Given the description of an element on the screen output the (x, y) to click on. 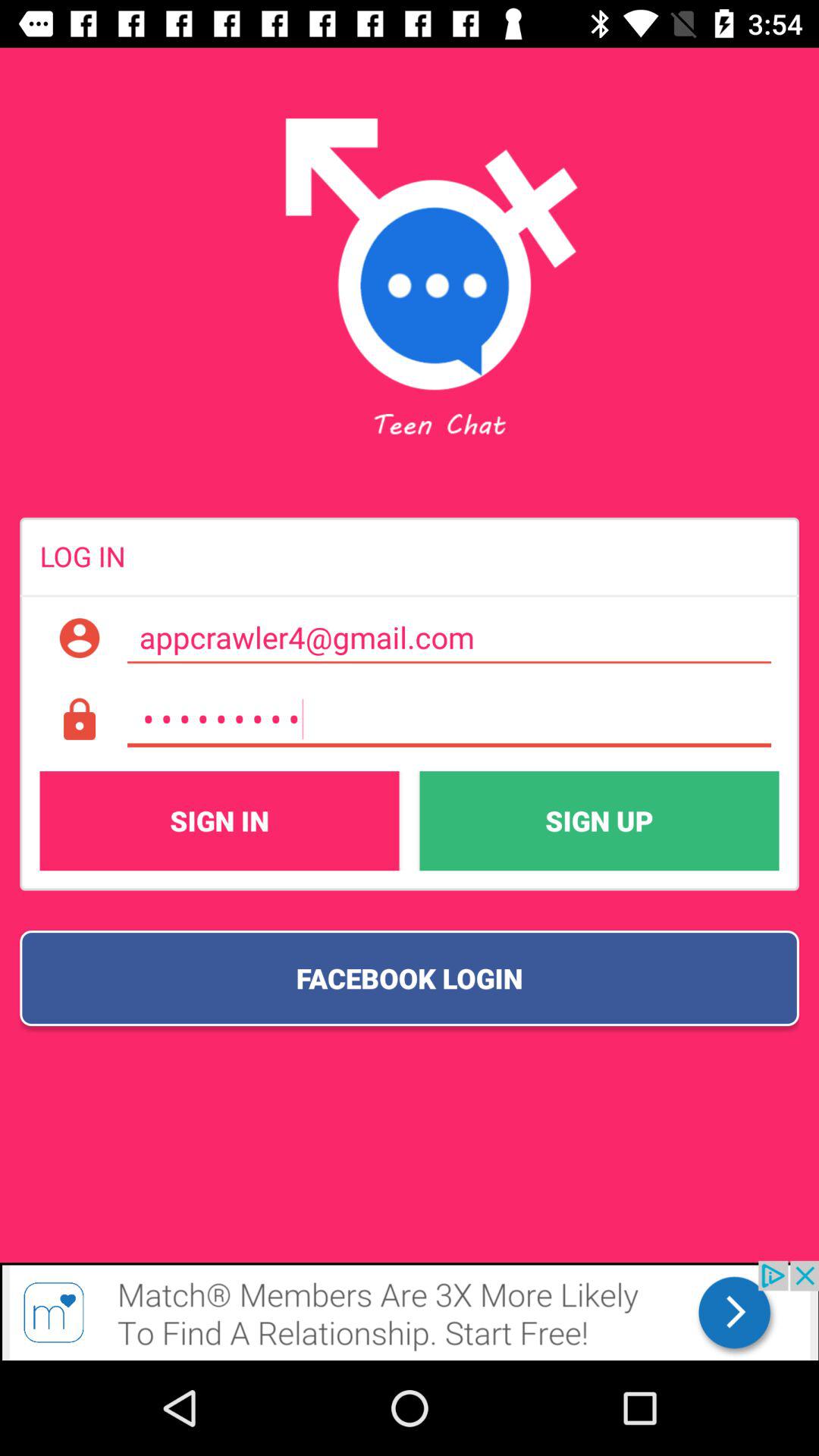
advertisement page (409, 1310)
